Given the description of an element on the screen output the (x, y) to click on. 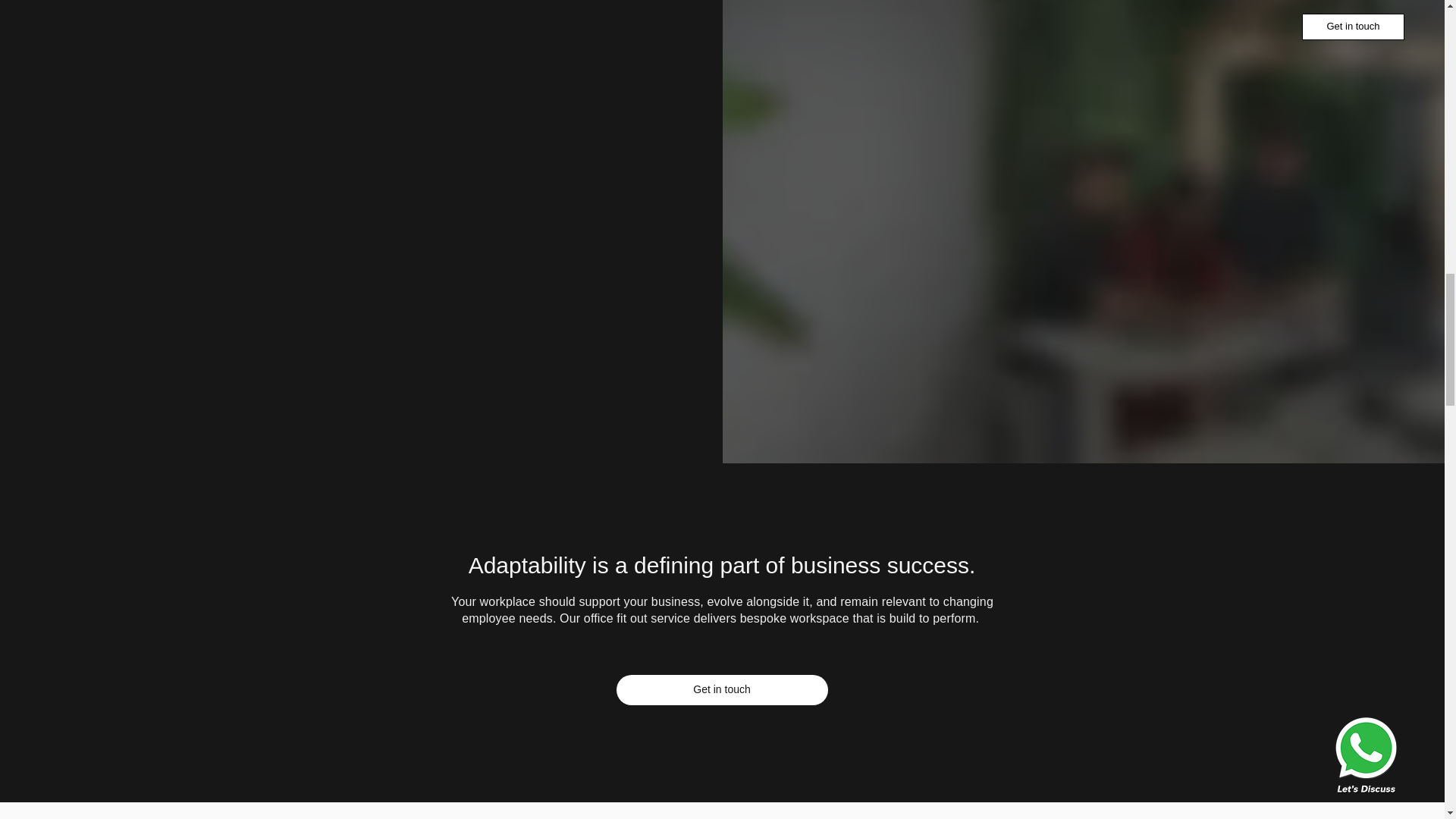
Get in touch (721, 689)
